Given the description of an element on the screen output the (x, y) to click on. 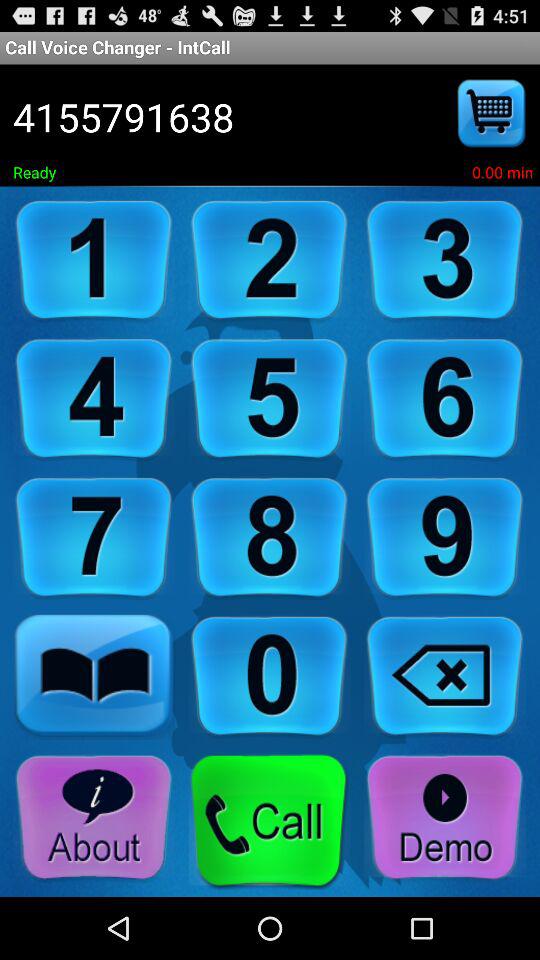
dial number (269, 260)
